Given the description of an element on the screen output the (x, y) to click on. 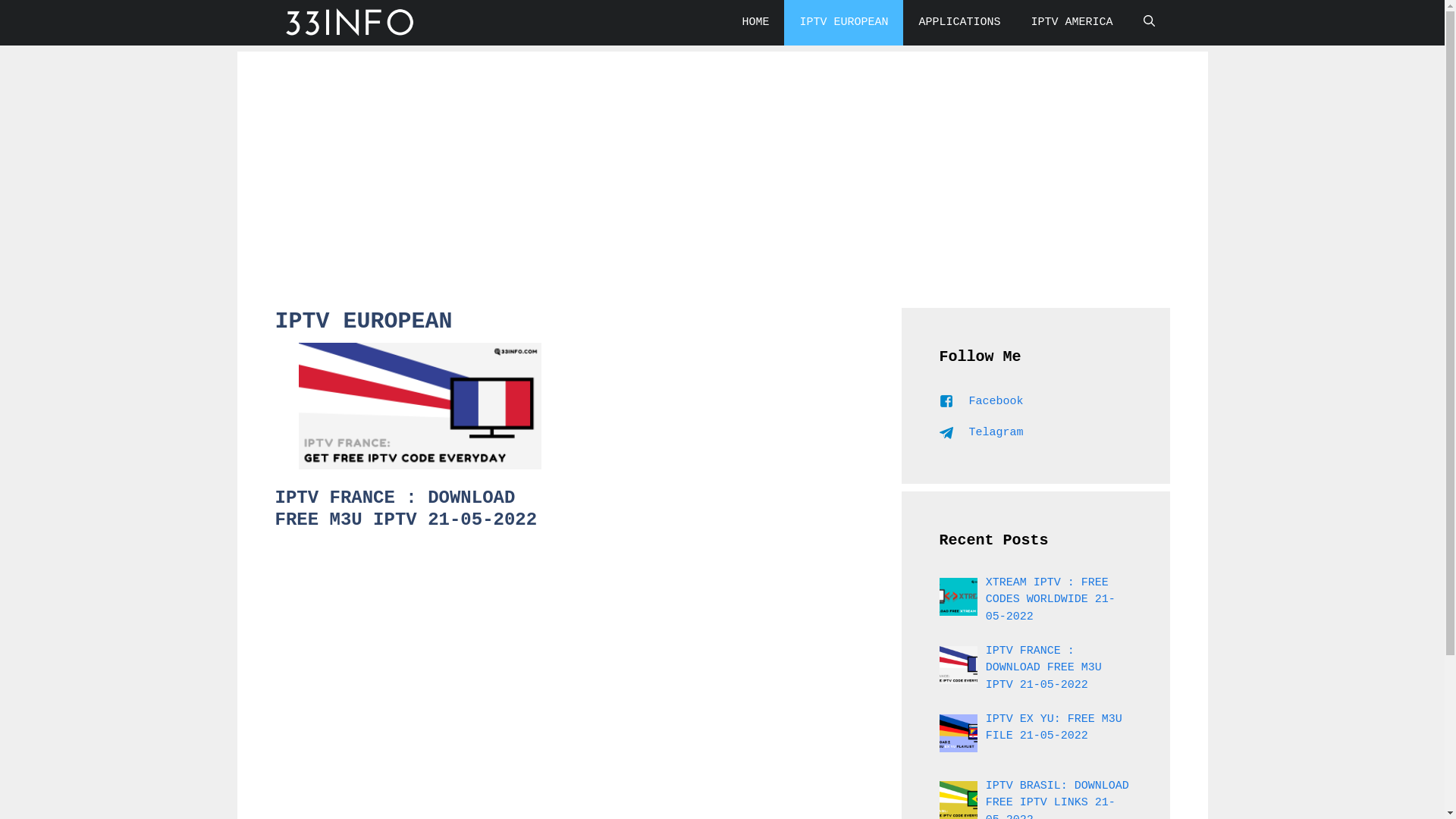
IPTV AMERICA Element type: text (1071, 22)
XTREAM IPTV : FREE CODES WORLDWIDE 21-05-2022 Element type: text (1050, 599)
IPTV EUROPEAN Element type: text (843, 22)
3Tinfo Element type: hover (350, 22)
Facebook Element type: text (977, 401)
IPTV FRANCE : DOWNLOAD FREE M3U IPTV 21-05-2022 Element type: text (1043, 667)
IPTV FRANCE : DOWNLOAD FREE M3U IPTV 21-05-2022 Element type: text (405, 508)
IPTV EX YU: FREE M3U FILE 21-05-2022 Element type: text (1053, 727)
Advertisement Element type: hover (721, 157)
Telagram Element type: text (977, 432)
APPLICATIONS Element type: text (959, 22)
HOME Element type: text (755, 22)
